Given the description of an element on the screen output the (x, y) to click on. 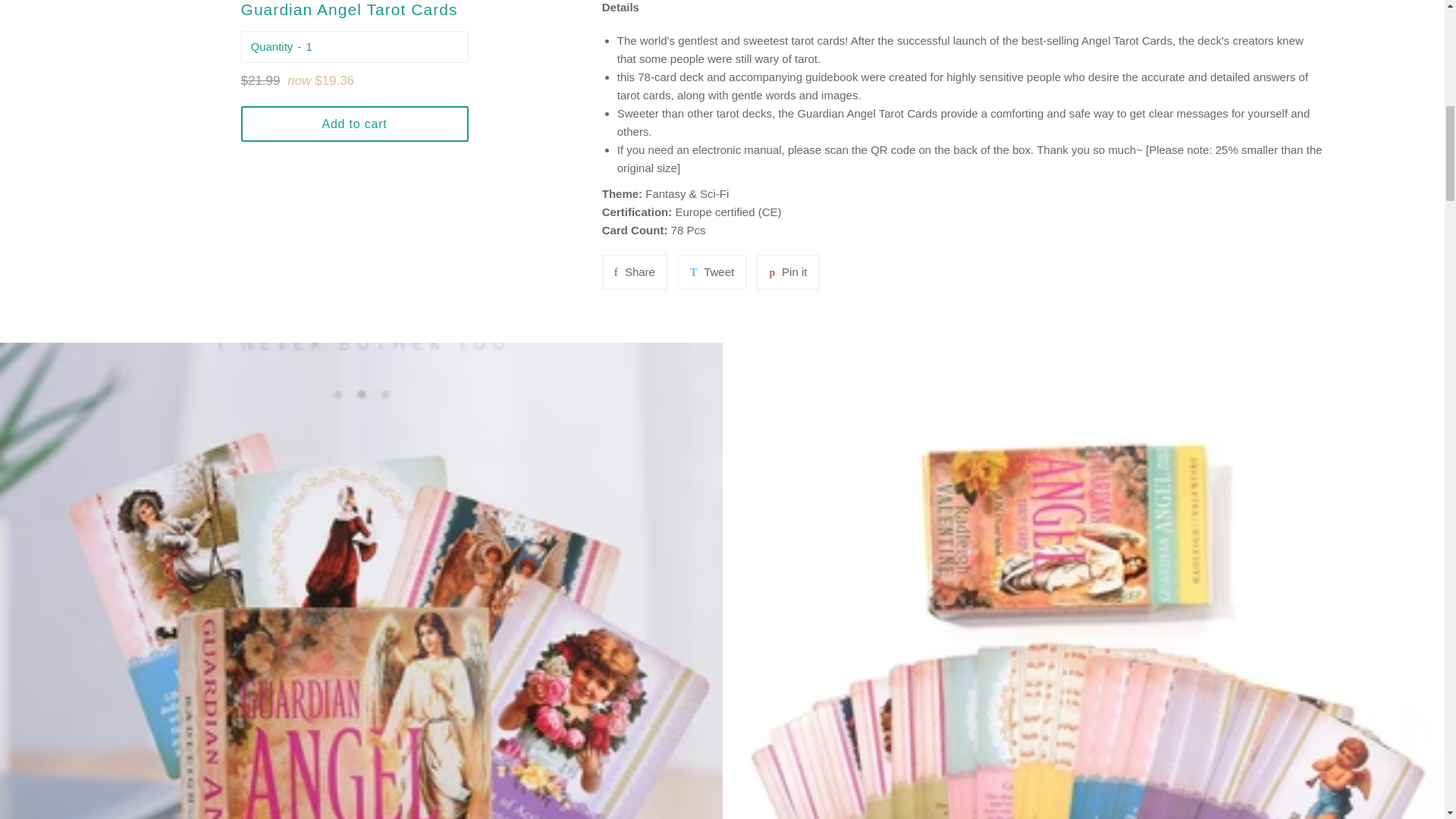
Share on Facebook (787, 271)
1 (634, 271)
Pin on Pinterest (382, 46)
Add to cart (634, 271)
Tweet on Twitter (711, 271)
